Given the description of an element on the screen output the (x, y) to click on. 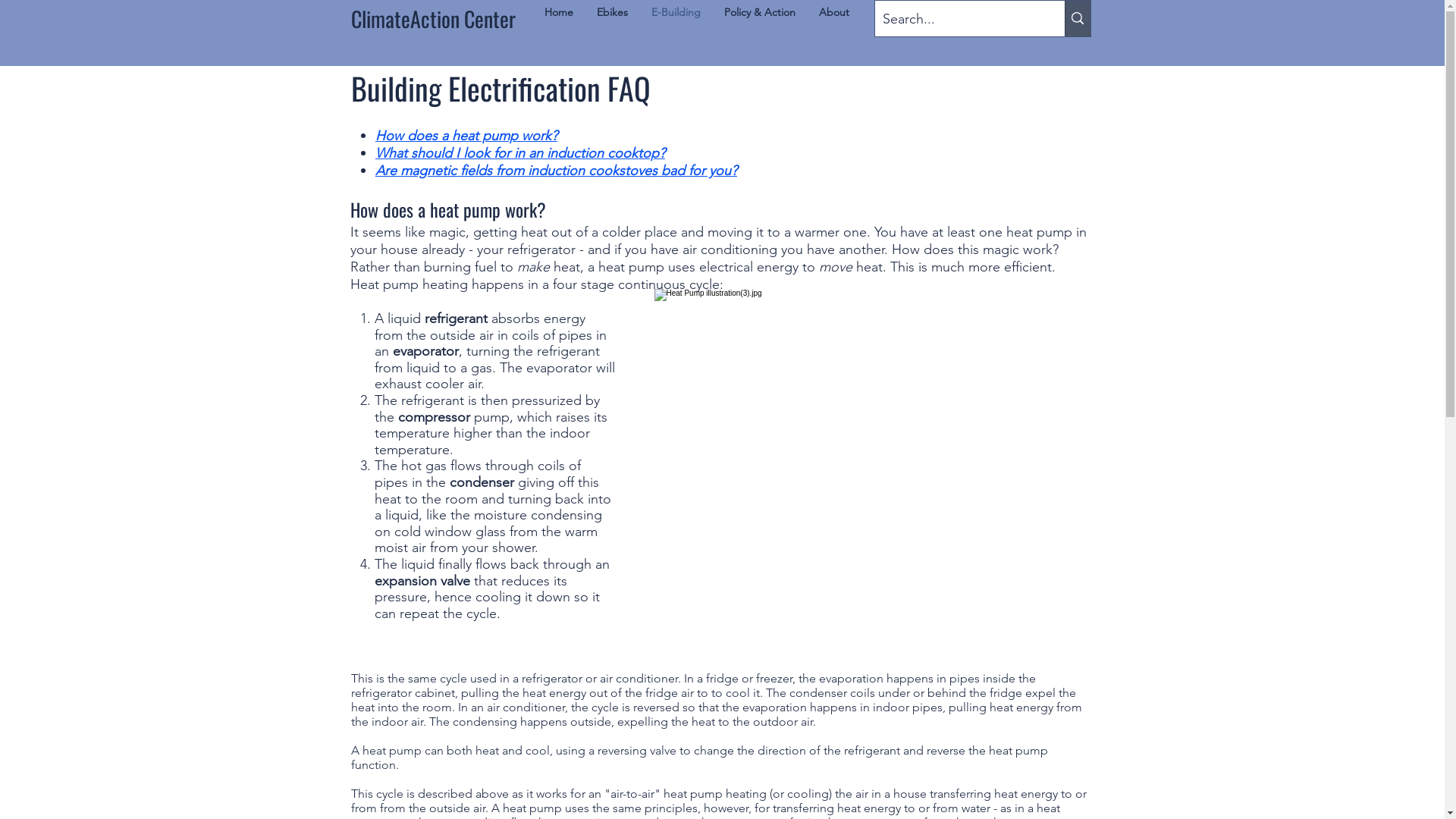
Ebikes Element type: text (612, 12)
E-Building Element type: text (676, 12)
About Element type: text (833, 12)
ClimateAction Center Element type: text (432, 18)
Home Element type: text (558, 12)
How does a heat pump work? Element type: text (466, 135)
Are magnetic fields from induction cookstoves bad for you? Element type: text (556, 169)
Policy & Action Element type: text (759, 12)
What should I look for in an induction cooktop? Element type: text (520, 152)
